Given the description of an element on the screen output the (x, y) to click on. 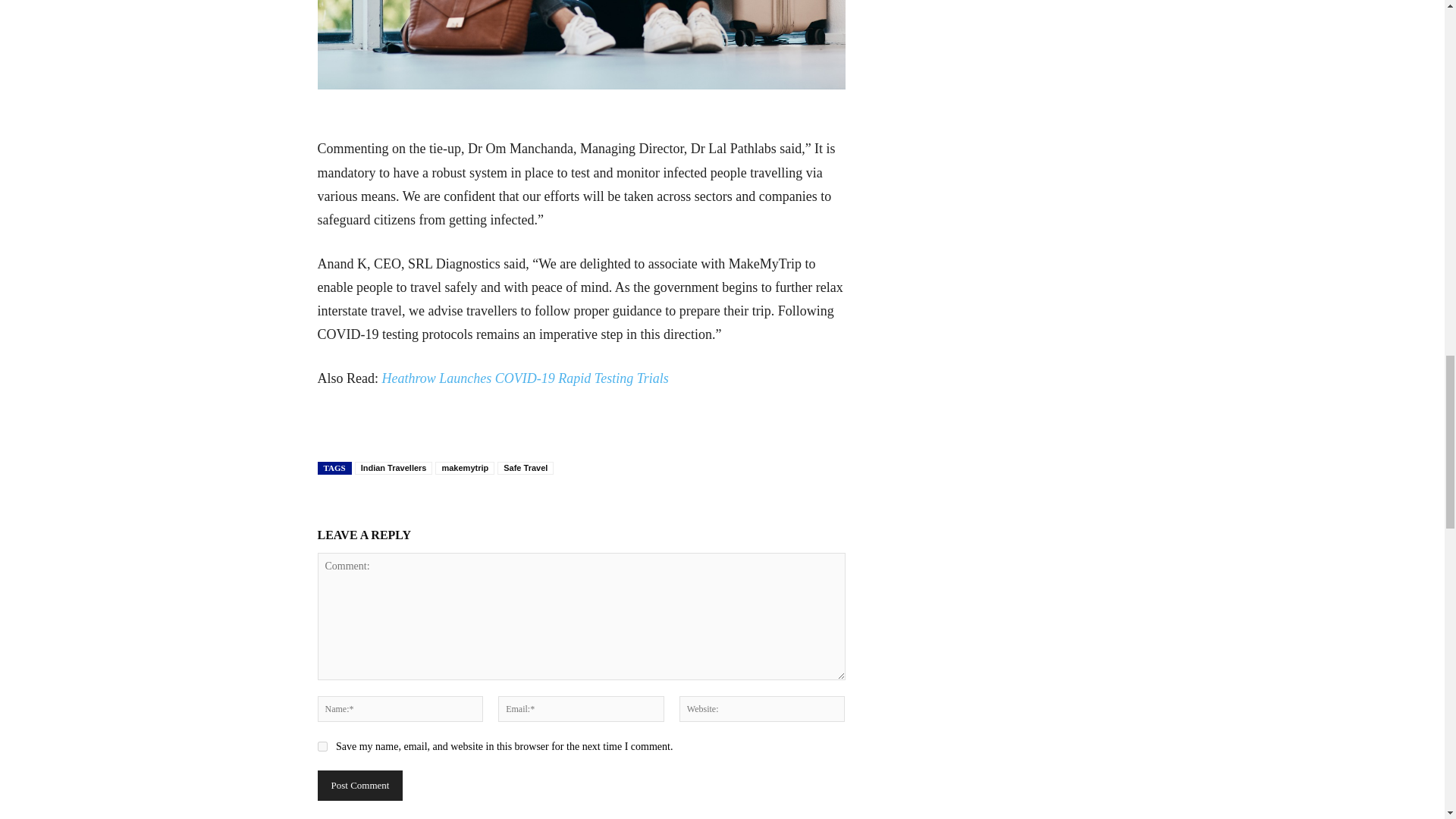
Heathrow Launches COVID-19 Rapid Testing Trials (524, 378)
Post Comment (360, 785)
yes (321, 746)
Post Comment (360, 785)
Indian Travellers (393, 468)
makemytrip (465, 468)
Safe Travel (525, 468)
